Given the description of an element on the screen output the (x, y) to click on. 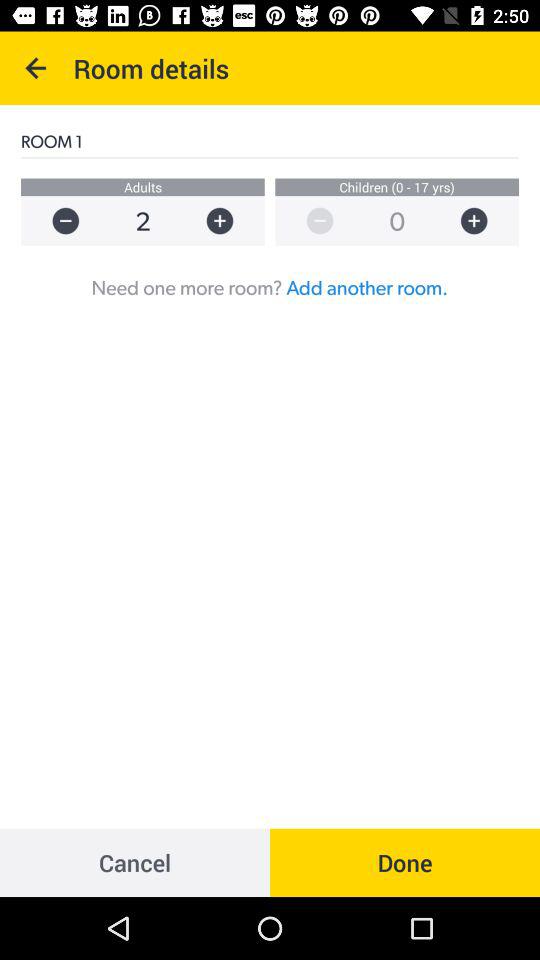
plus 1 (229, 220)
